Given the description of an element on the screen output the (x, y) to click on. 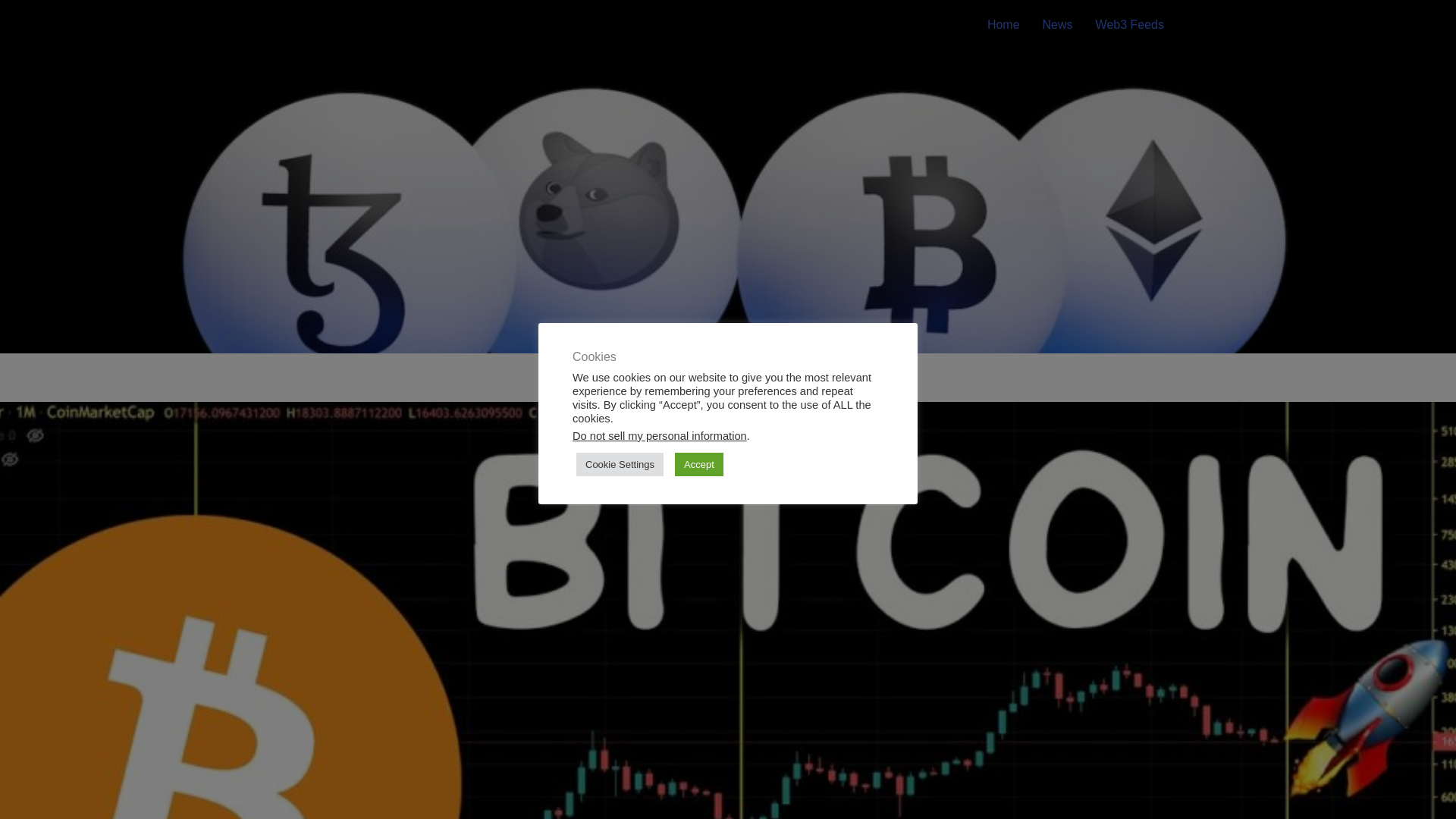
News (1057, 24)
Home (1002, 24)
Web3 Feeds (1129, 24)
